Given the description of an element on the screen output the (x, y) to click on. 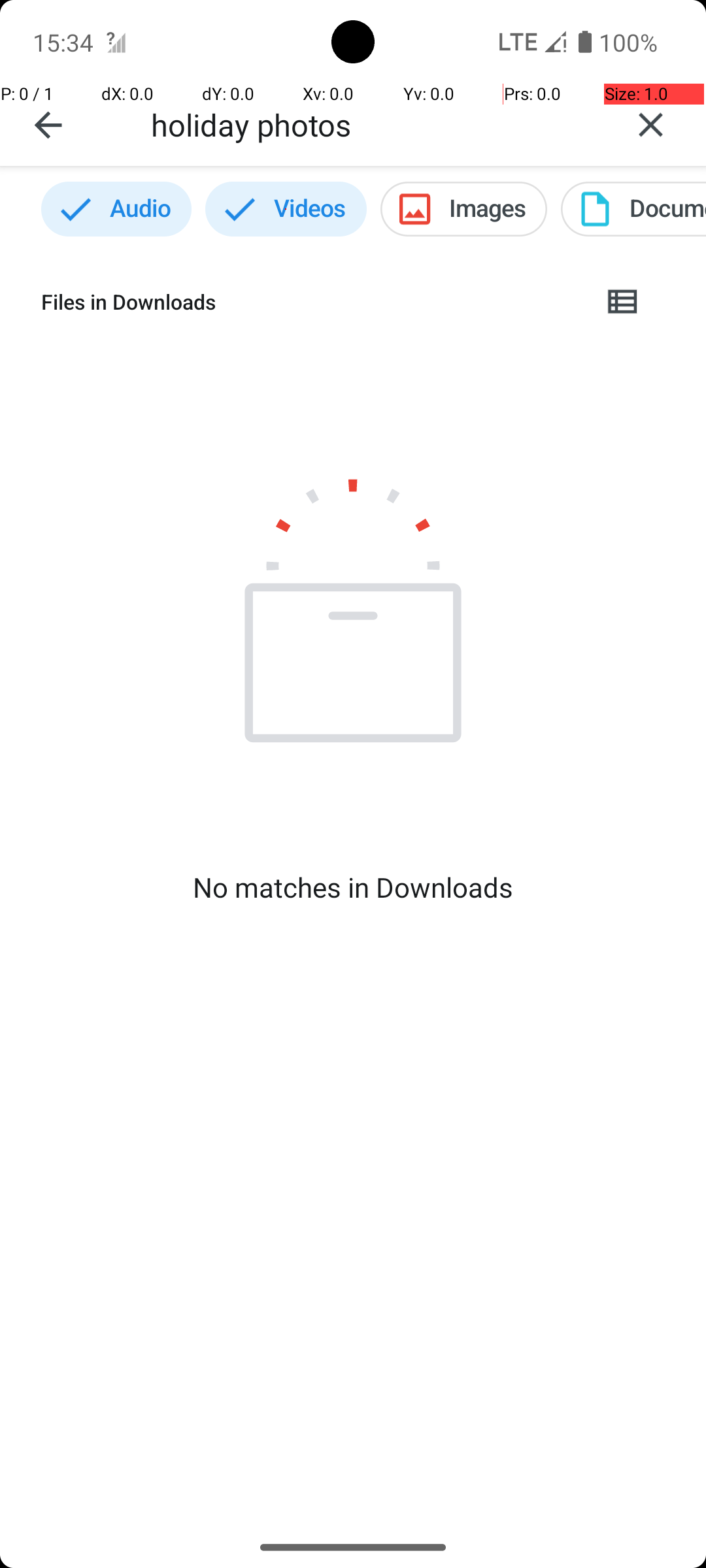
holiday photos Element type: android.widget.AutoCompleteTextView (373, 124)
